Given the description of an element on the screen output the (x, y) to click on. 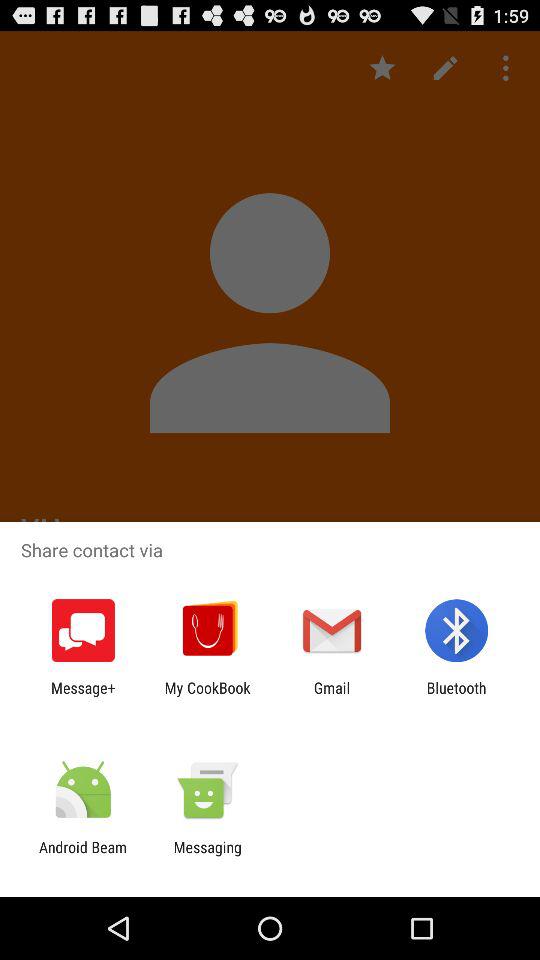
select item to the right of the message+ app (207, 696)
